Given the description of an element on the screen output the (x, y) to click on. 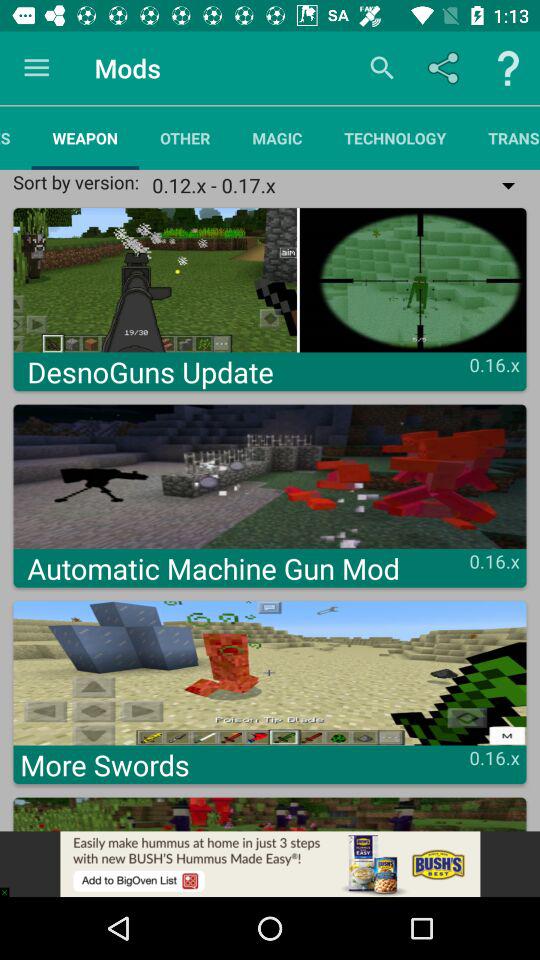
flip to the resources (15, 137)
